Given the description of an element on the screen output the (x, y) to click on. 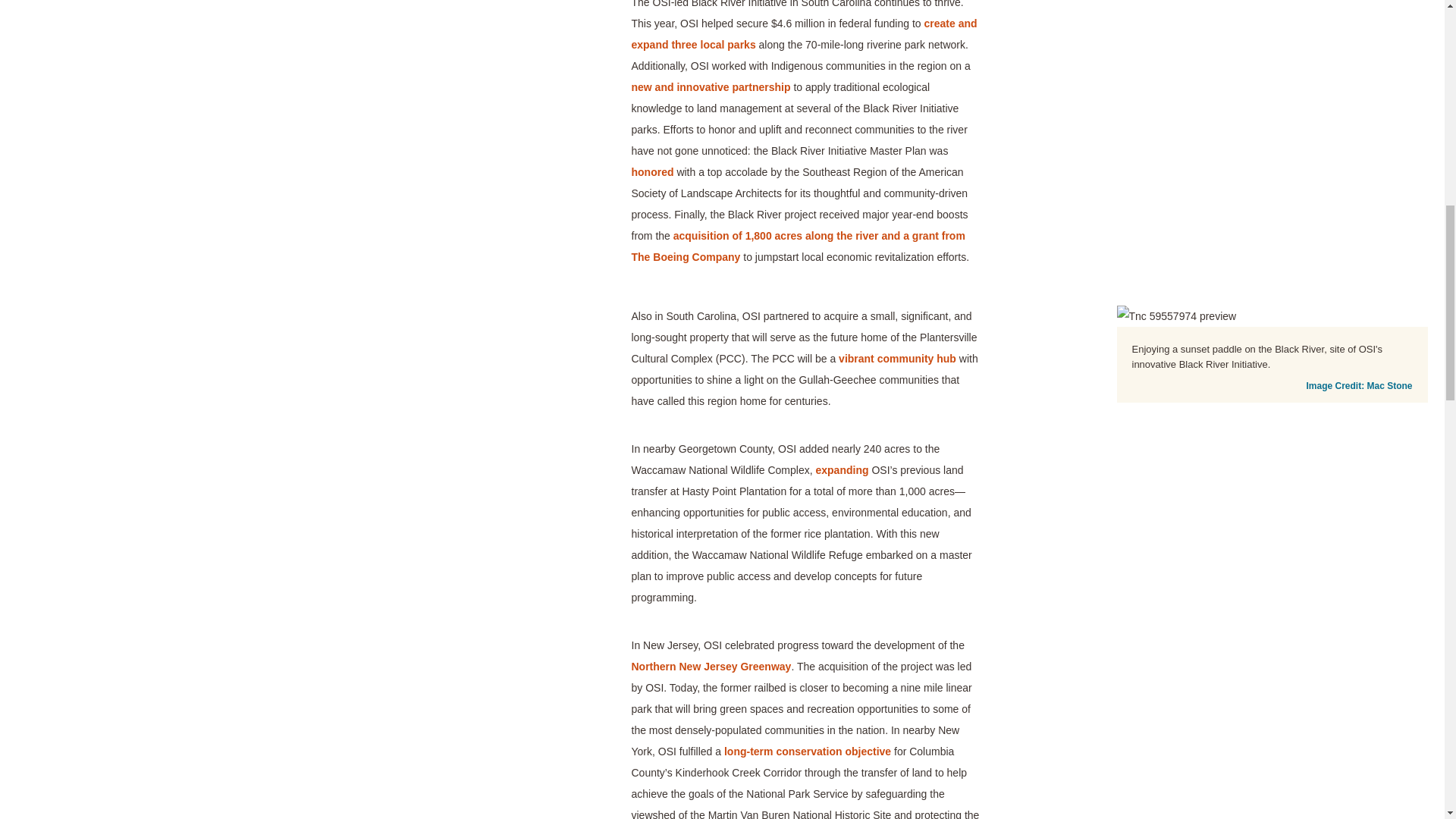
honored (651, 172)
vibrant community hub (897, 358)
create and expand three local parks (803, 33)
new and innovative partnership (710, 87)
expanding (842, 469)
